Given the description of an element on the screen output the (x, y) to click on. 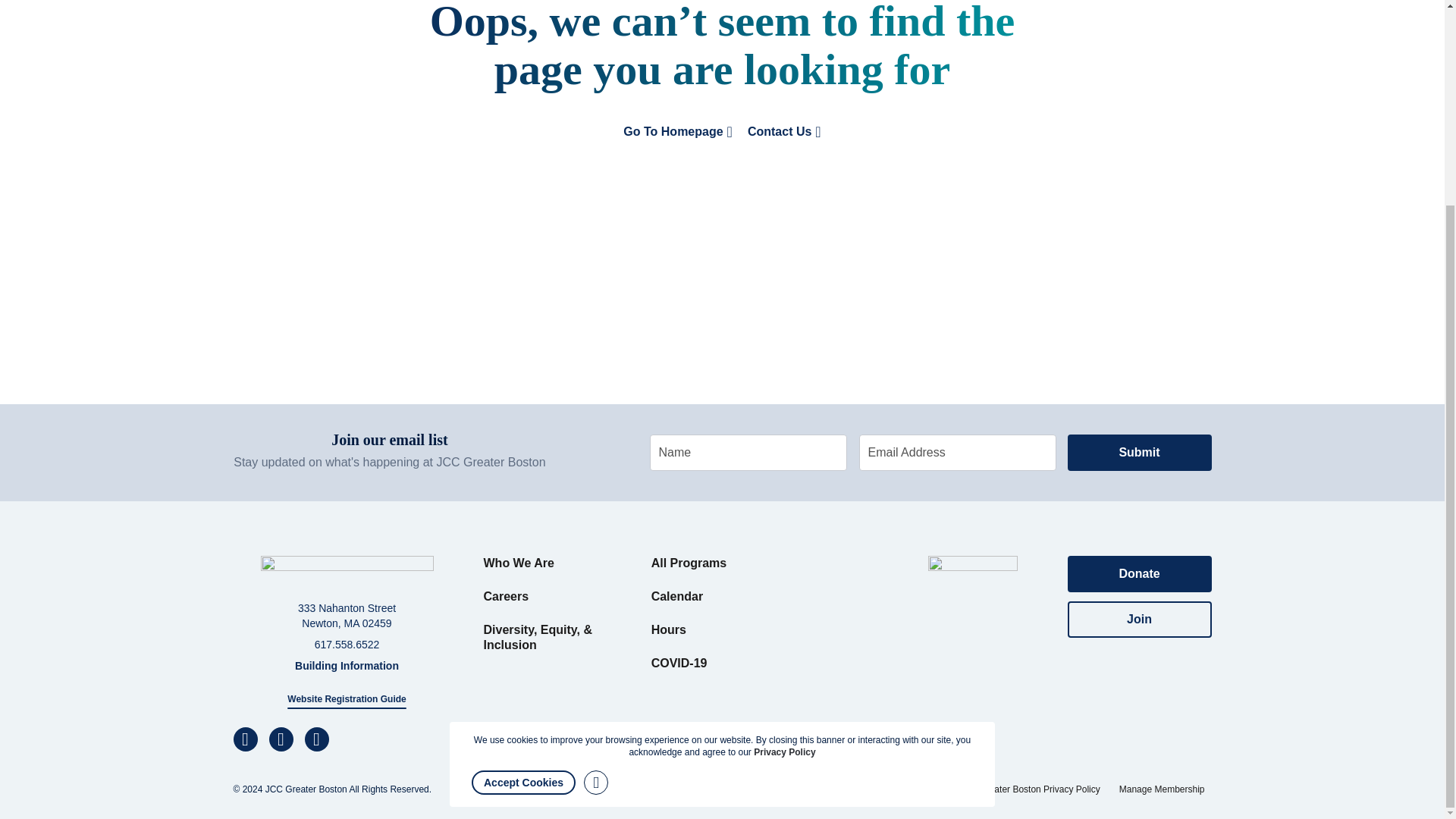
Join (1139, 619)
Donate (1139, 574)
